Given the description of an element on the screen output the (x, y) to click on. 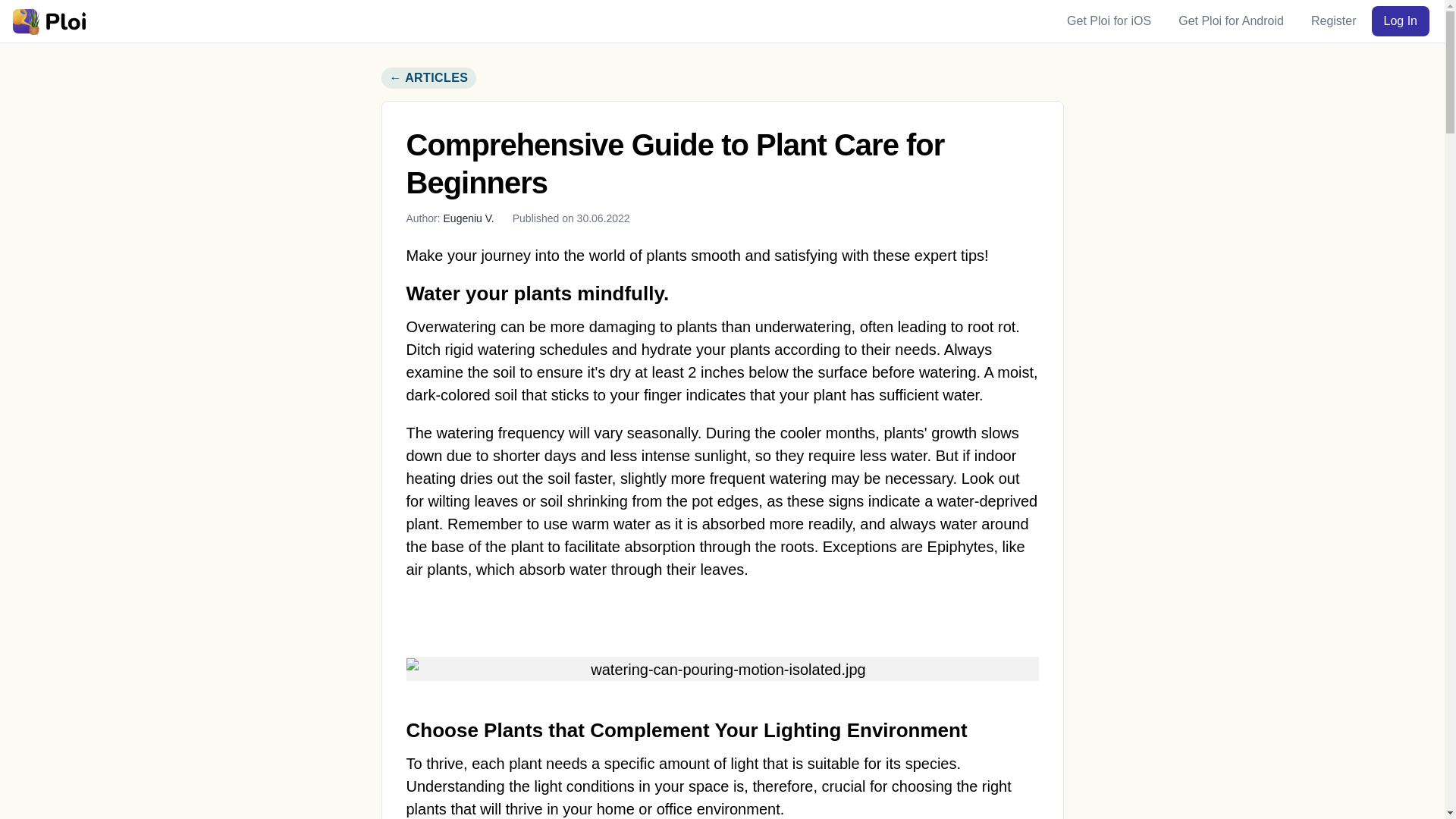
Get Ploi for Android (1230, 20)
Ploi - Plant Care App (47, 20)
Ploi app icon (25, 20)
Get Ploi for iOS (1108, 20)
Register (1333, 20)
Ploi logo (47, 20)
Log In (1400, 20)
